Given the description of an element on the screen output the (x, y) to click on. 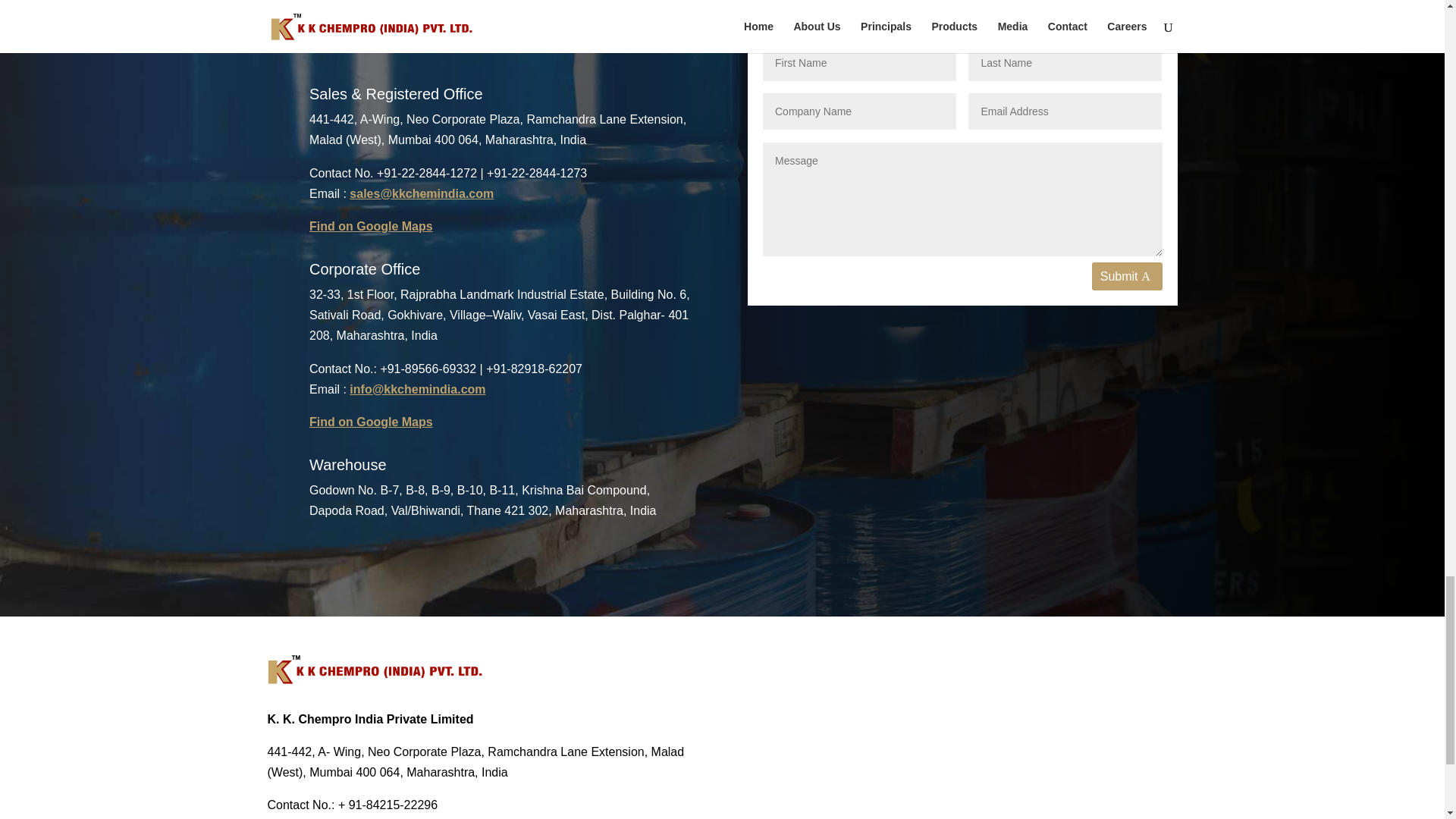
KKCIL-Full-Logo (373, 668)
